Given the description of an element on the screen output the (x, y) to click on. 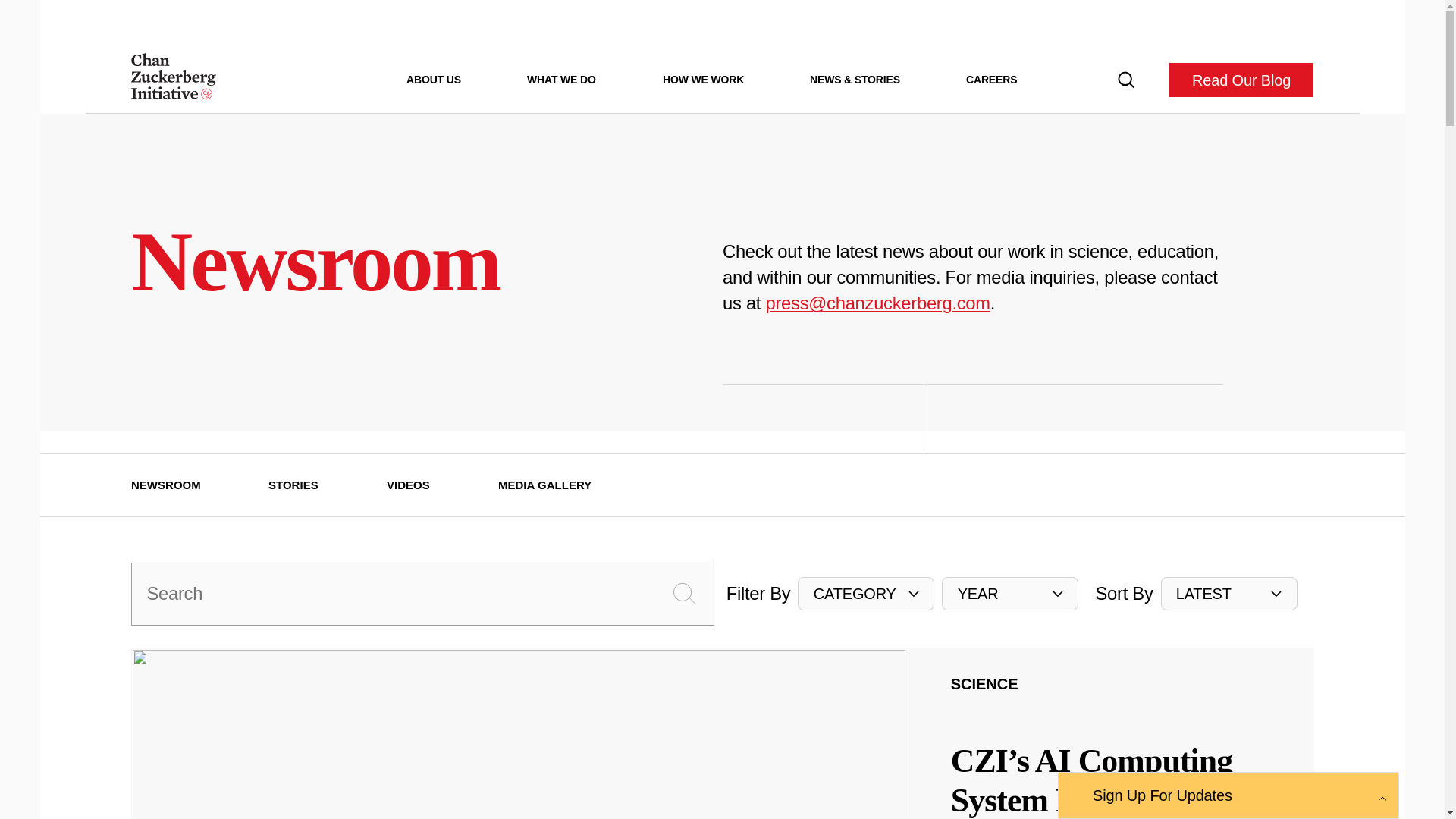
ABOUT US (433, 78)
WHAT WE DO (561, 78)
New Homepage (173, 79)
HOW WE WORK (703, 78)
